Given the description of an element on the screen output the (x, y) to click on. 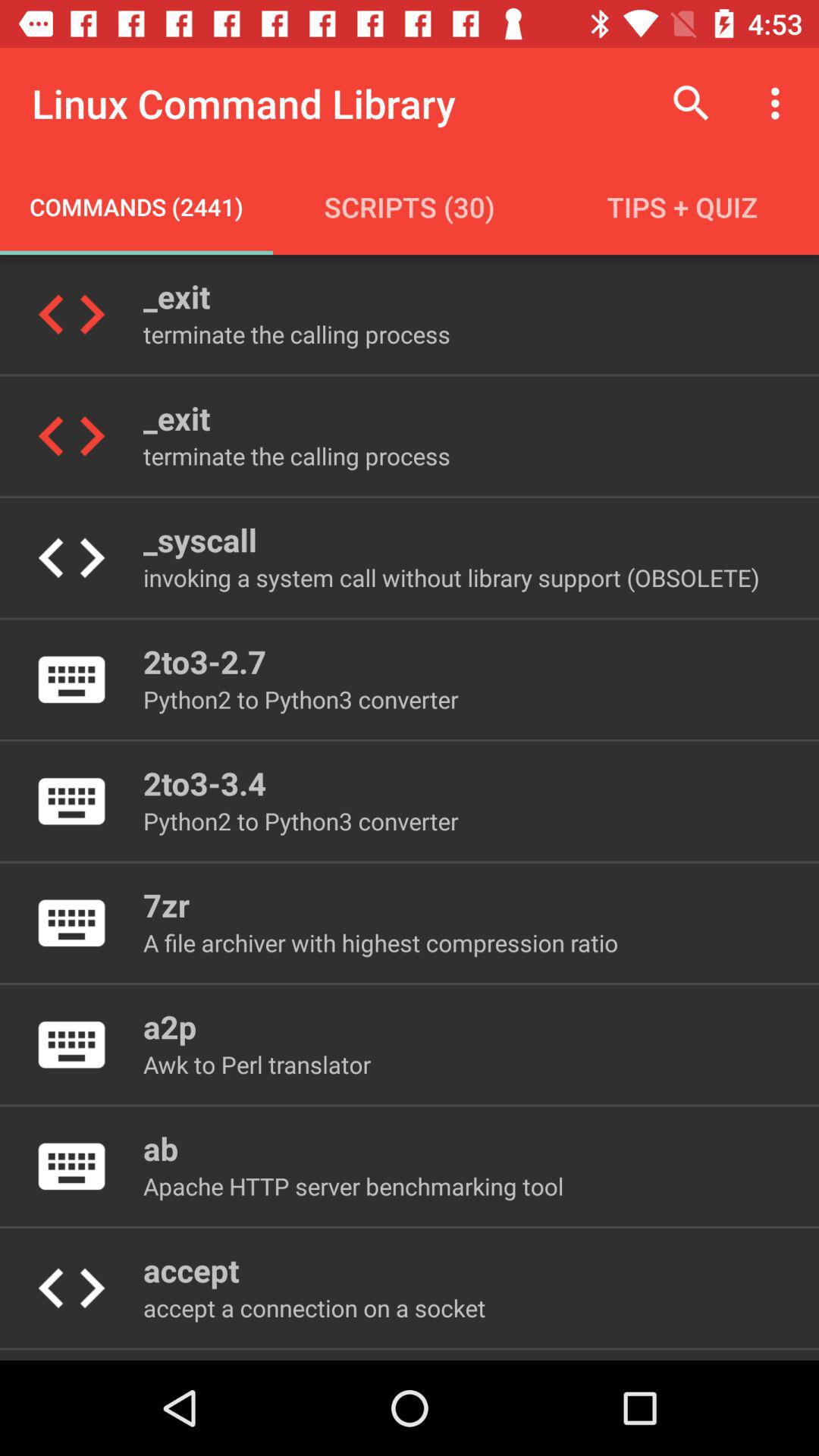
jump to the awk to perl (256, 1064)
